Given the description of an element on the screen output the (x, y) to click on. 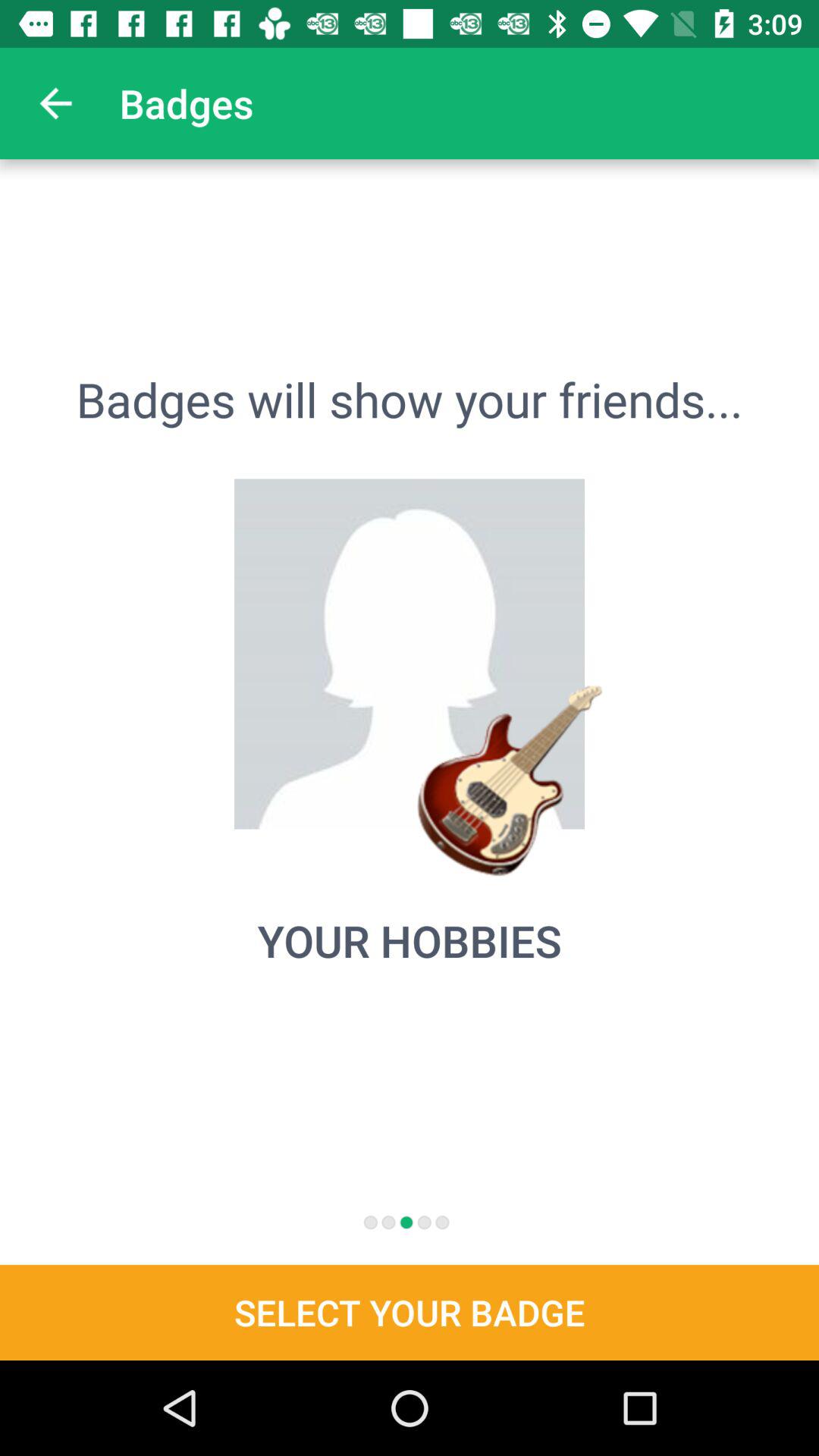
turn on your hobbies (409, 940)
